Given the description of an element on the screen output the (x, y) to click on. 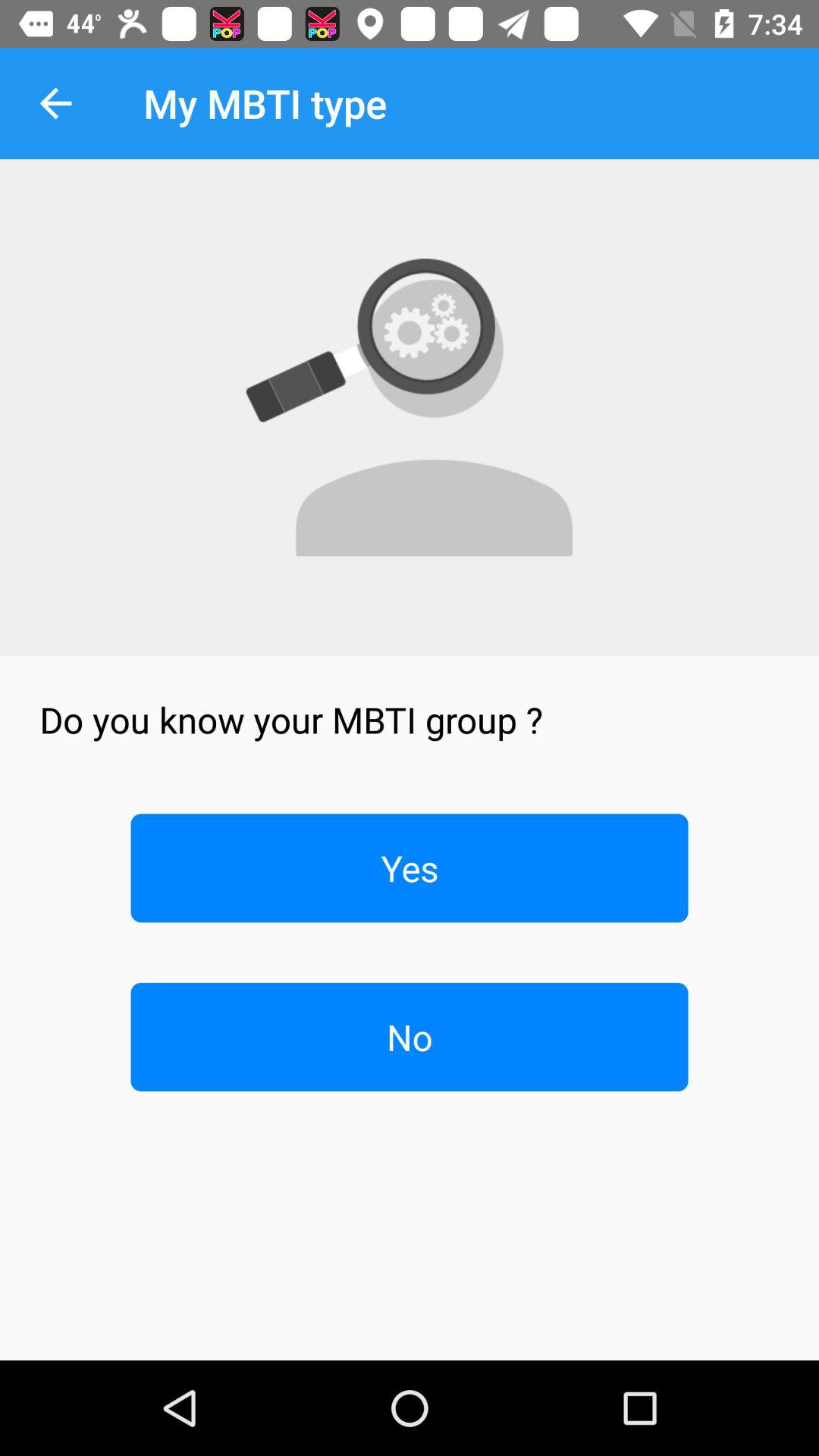
choose icon below the do you know (409, 867)
